Given the description of an element on the screen output the (x, y) to click on. 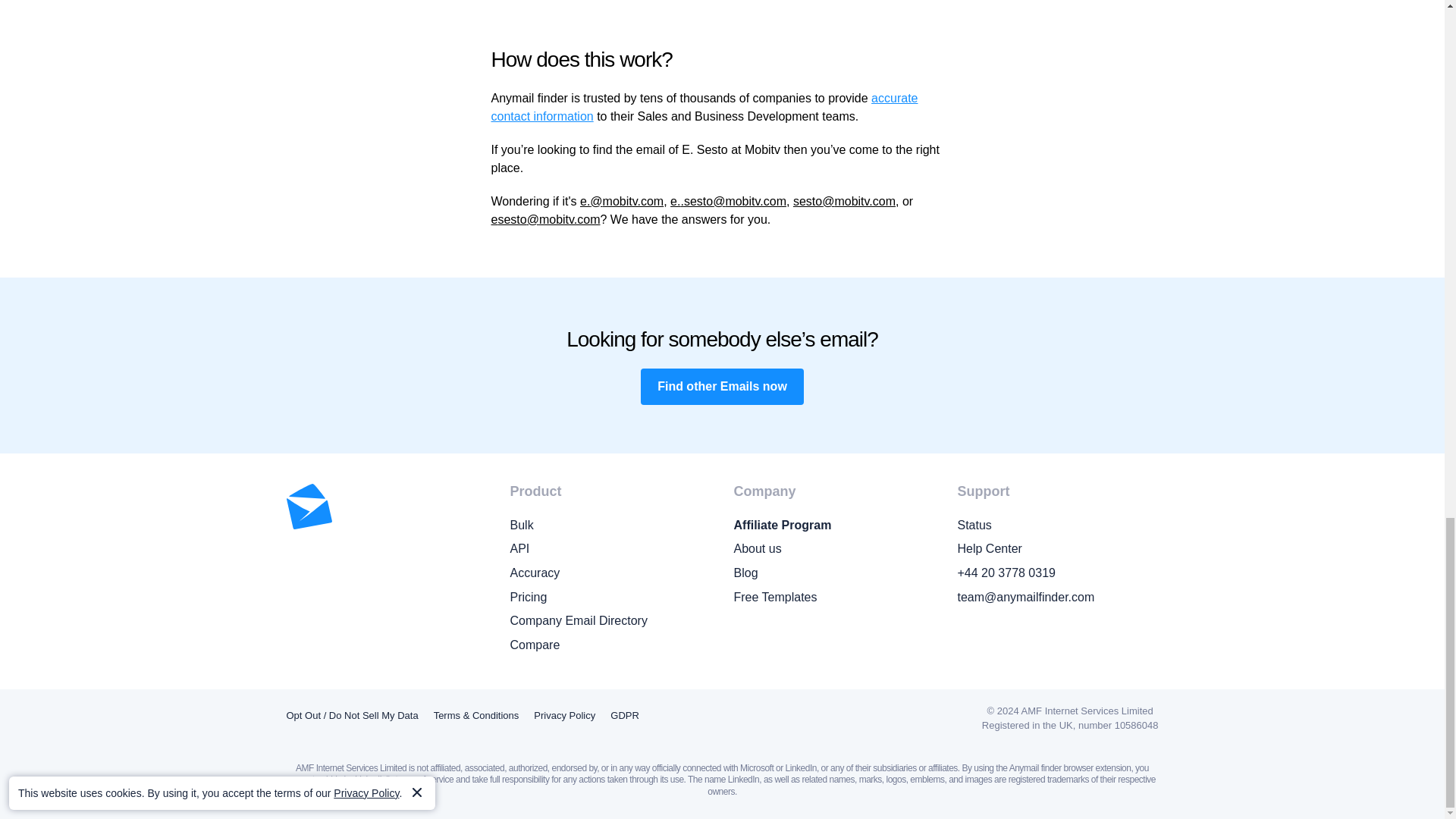
Free Templates (833, 597)
accurate contact information (705, 106)
Find other Emails now (721, 386)
Status (1056, 525)
About us (833, 548)
Blog (833, 573)
Pricing (609, 597)
API (609, 548)
Bulk (609, 525)
Affiliate Program (833, 525)
